Given the description of an element on the screen output the (x, y) to click on. 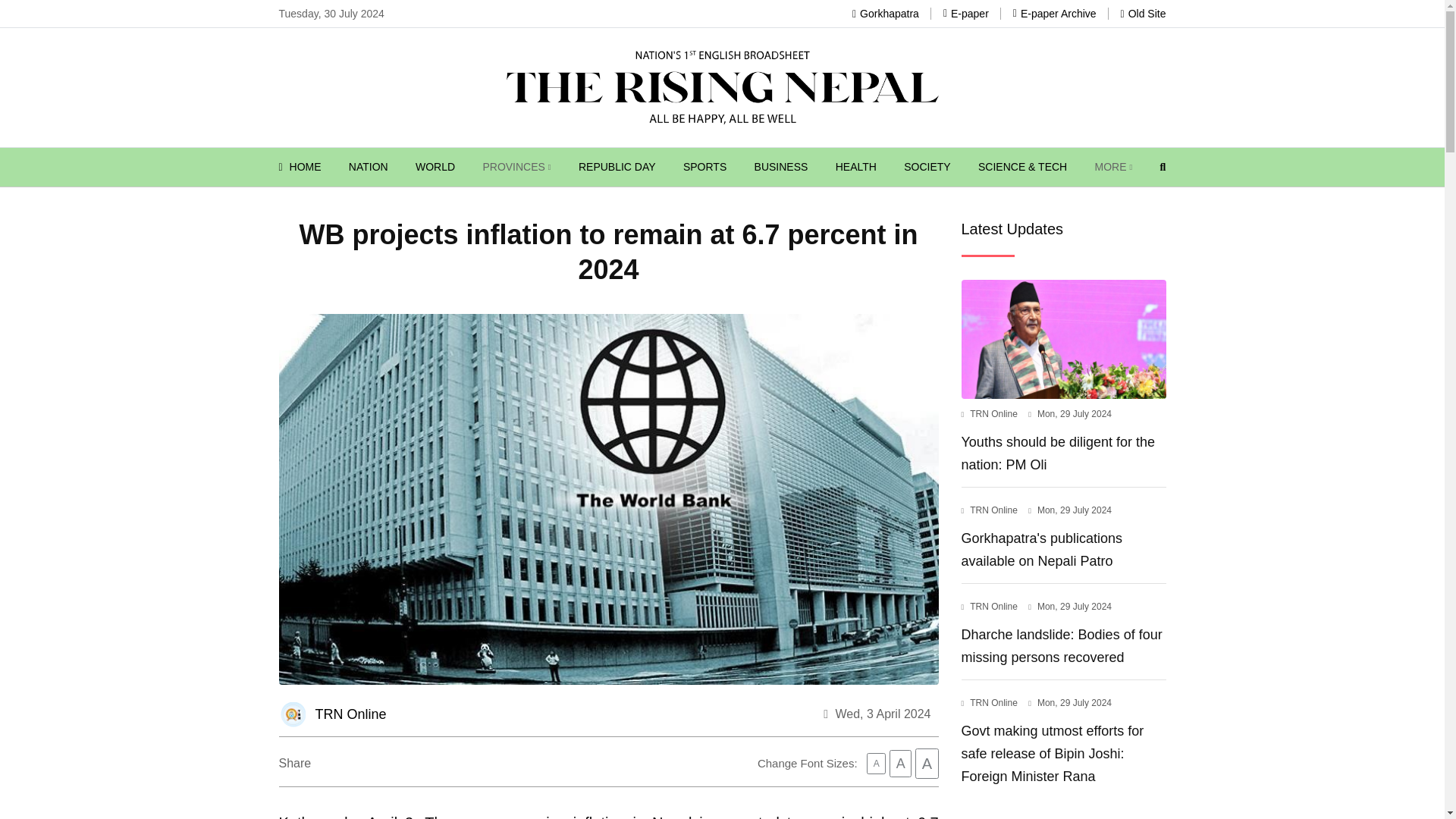
PROVINCES (515, 166)
Old Site (1143, 13)
MORE (1113, 166)
A (875, 762)
E-paper (965, 13)
E-paper Archive (1054, 13)
HEALTH (855, 166)
SPORTS (704, 166)
WORLD (434, 166)
NATION (368, 166)
SOCIETY (927, 166)
HOME (300, 167)
Gorkhapatra (884, 13)
REPUBLIC DAY (617, 166)
BUSINESS (781, 166)
